Given the description of an element on the screen output the (x, y) to click on. 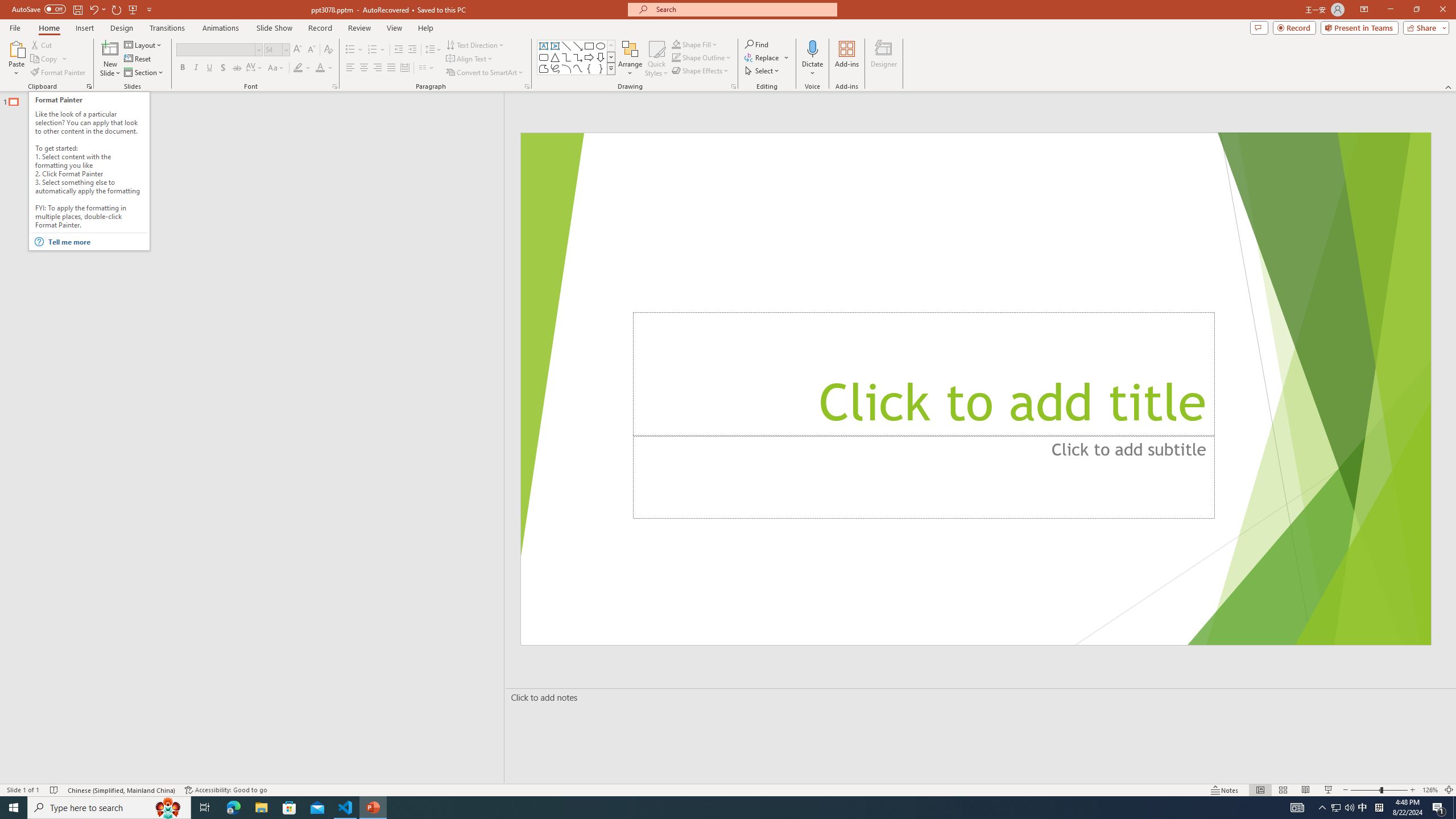
Tell me more (96, 241)
Zoom 126% (1430, 790)
